Given the description of an element on the screen output the (x, y) to click on. 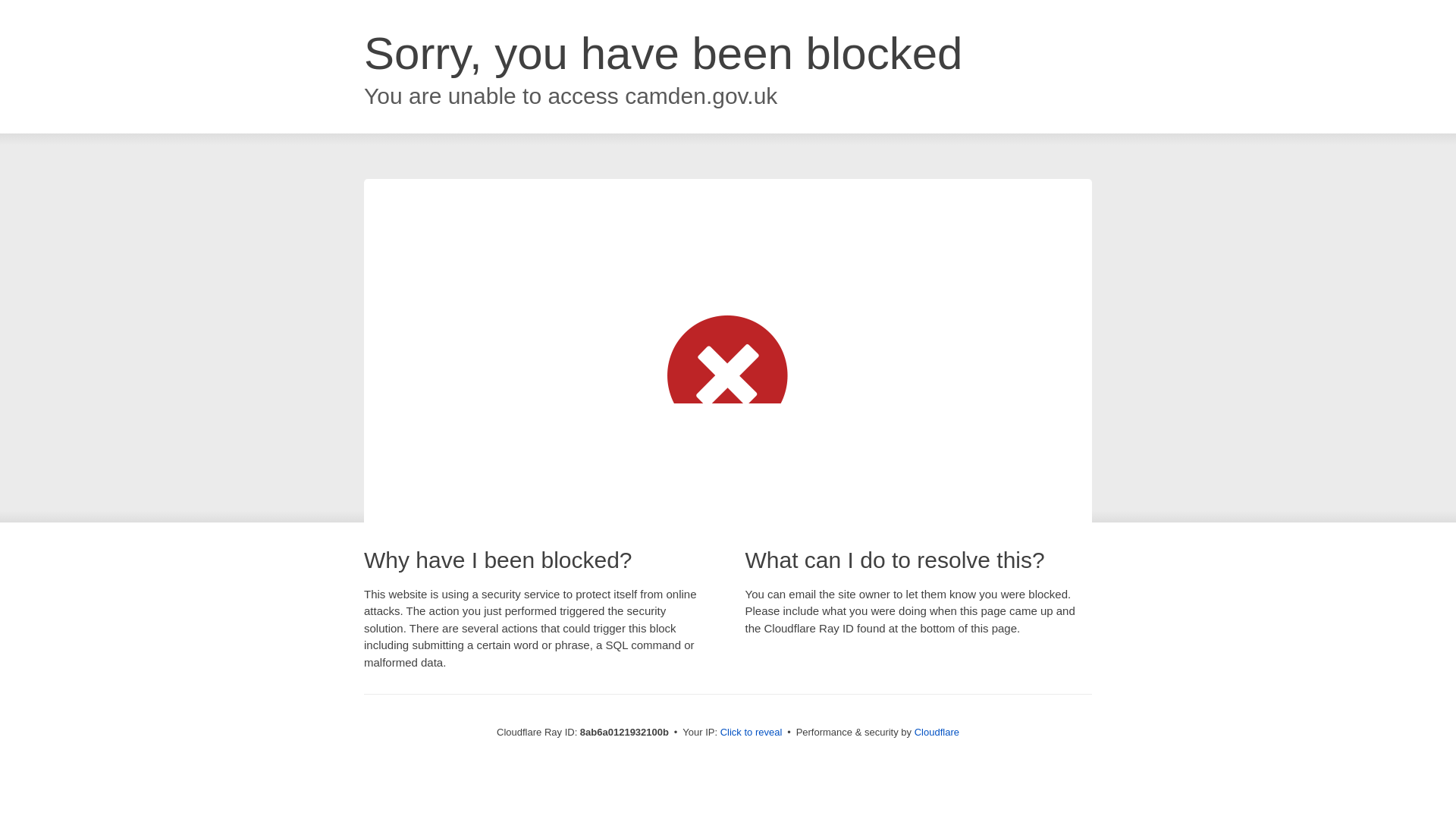
Click to reveal (751, 732)
Cloudflare (936, 731)
